Given the description of an element on the screen output the (x, y) to click on. 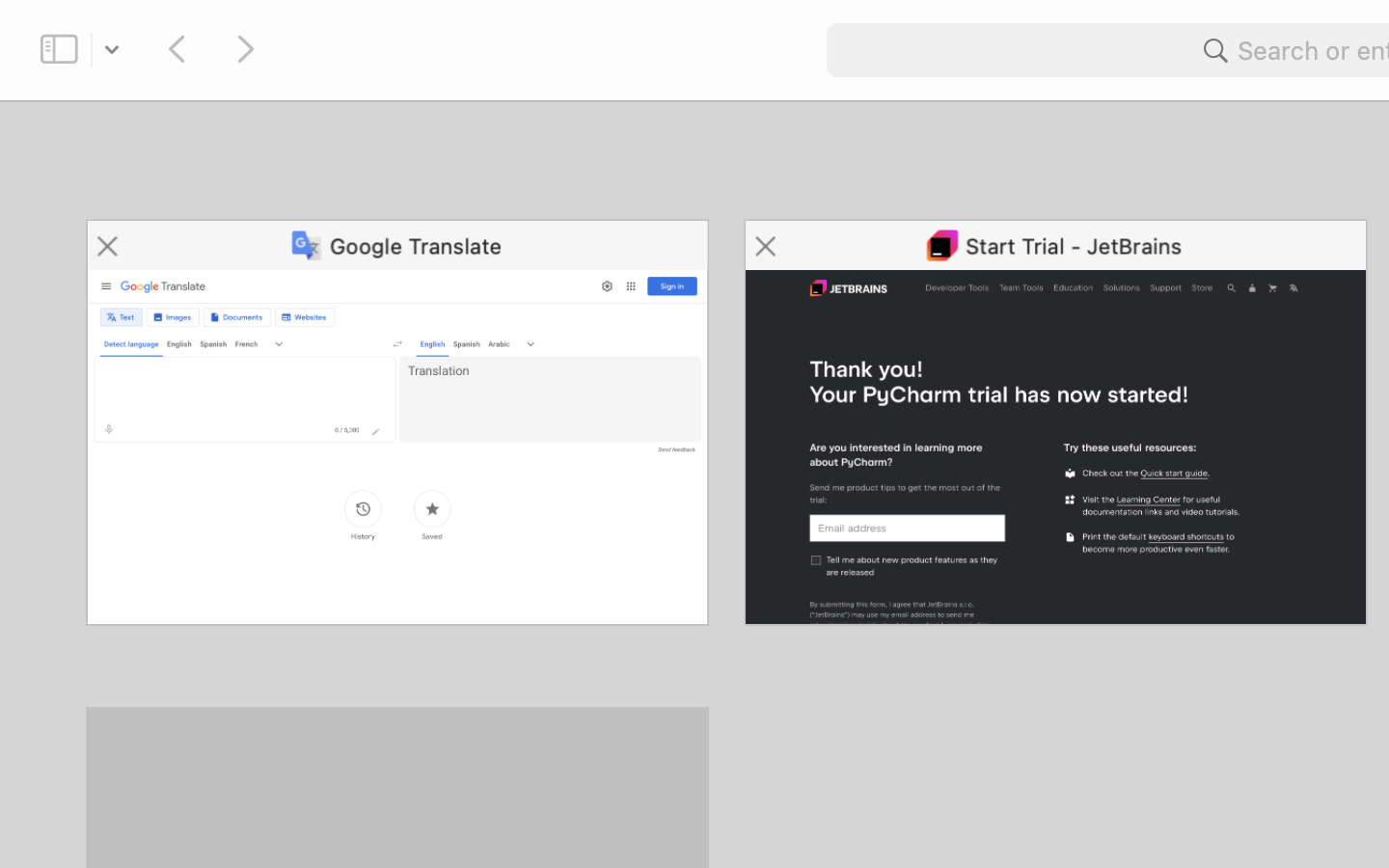
False Element type: AXRadioButton (1040, 73)
